Given the description of an element on the screen output the (x, y) to click on. 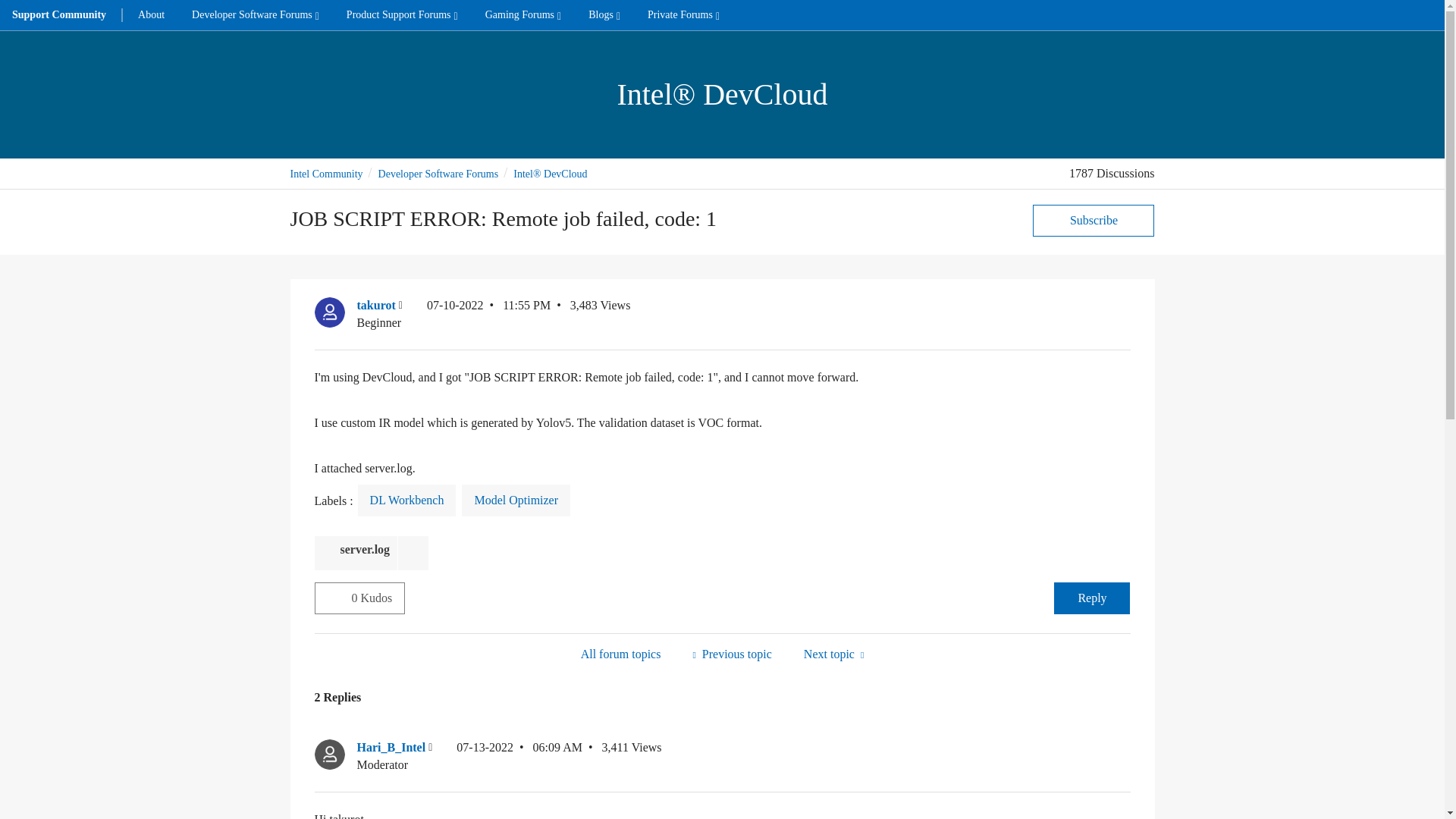
About (150, 15)
takurot (328, 312)
cannot open the shopper-gaze-monitor.ipynb (731, 653)
Attachment (328, 554)
Gaming Forums (523, 15)
Product Support Forums (402, 15)
Click here to give kudos to this post. (332, 597)
Posted on (488, 314)
Blogs (603, 15)
Posted on (519, 756)
